Given the description of an element on the screen output the (x, y) to click on. 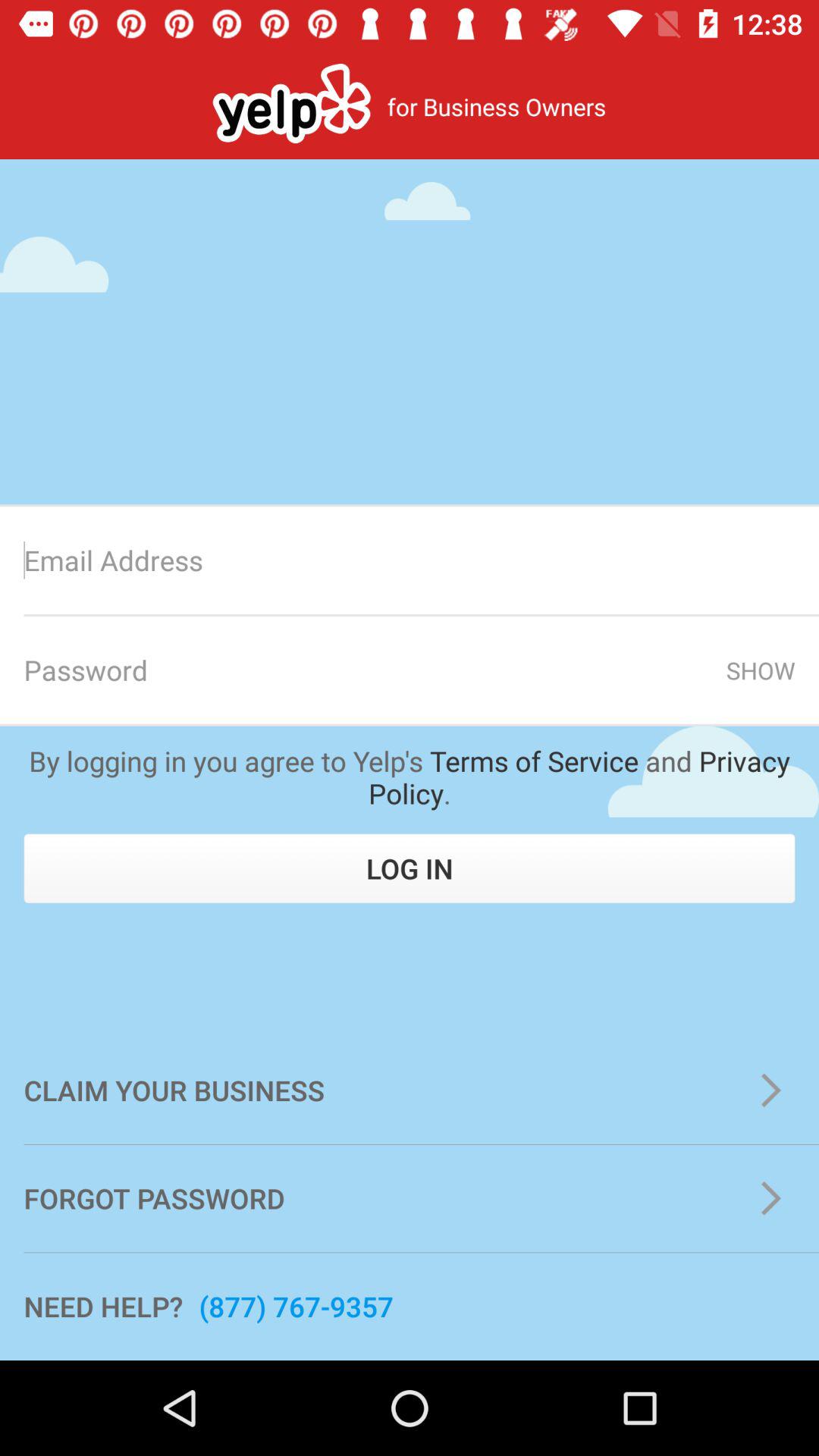
scroll until the log in (409, 868)
